Given the description of an element on the screen output the (x, y) to click on. 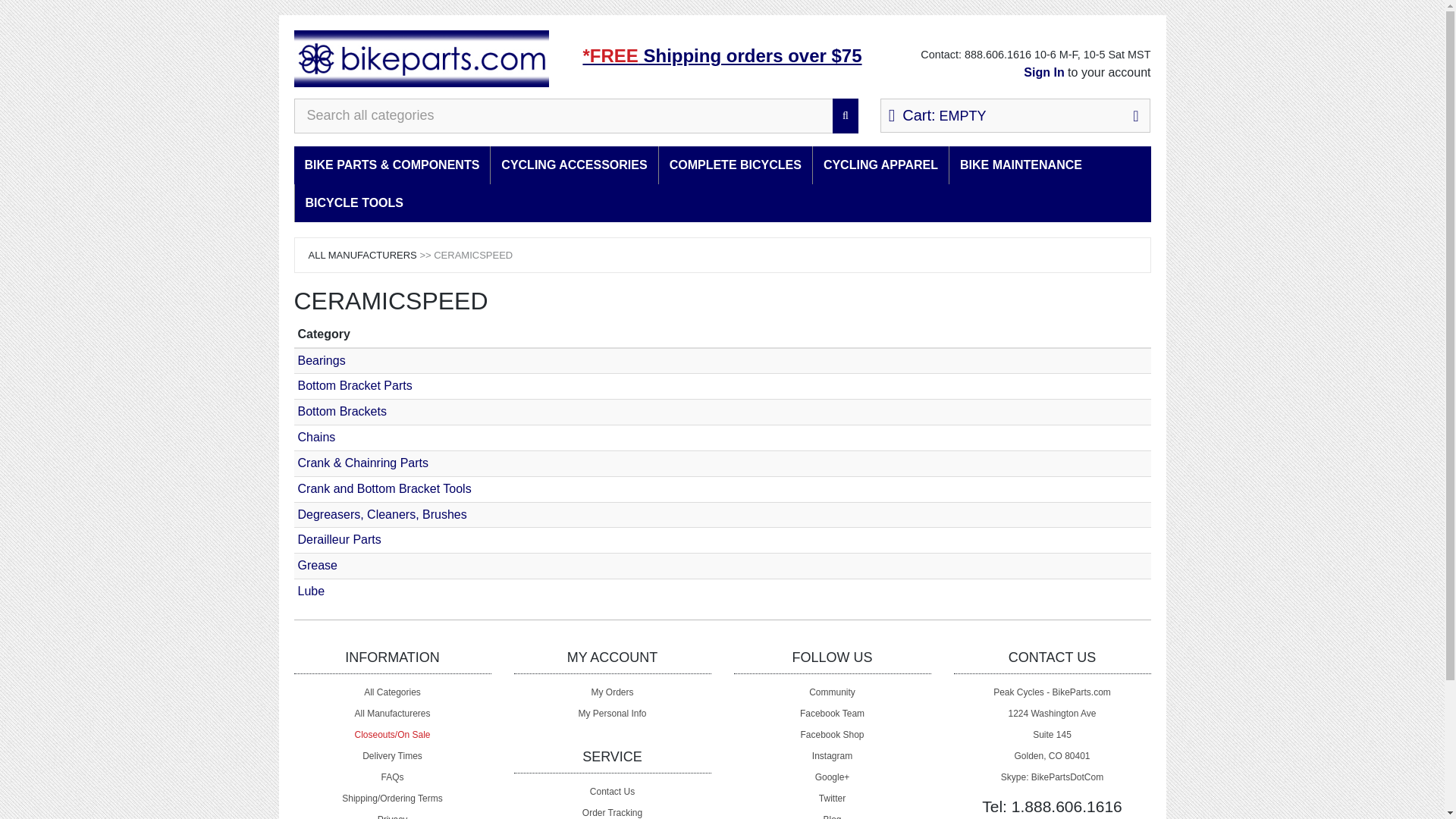
Bikeparts (422, 58)
Sign In (1043, 72)
